Given the description of an element on the screen output the (x, y) to click on. 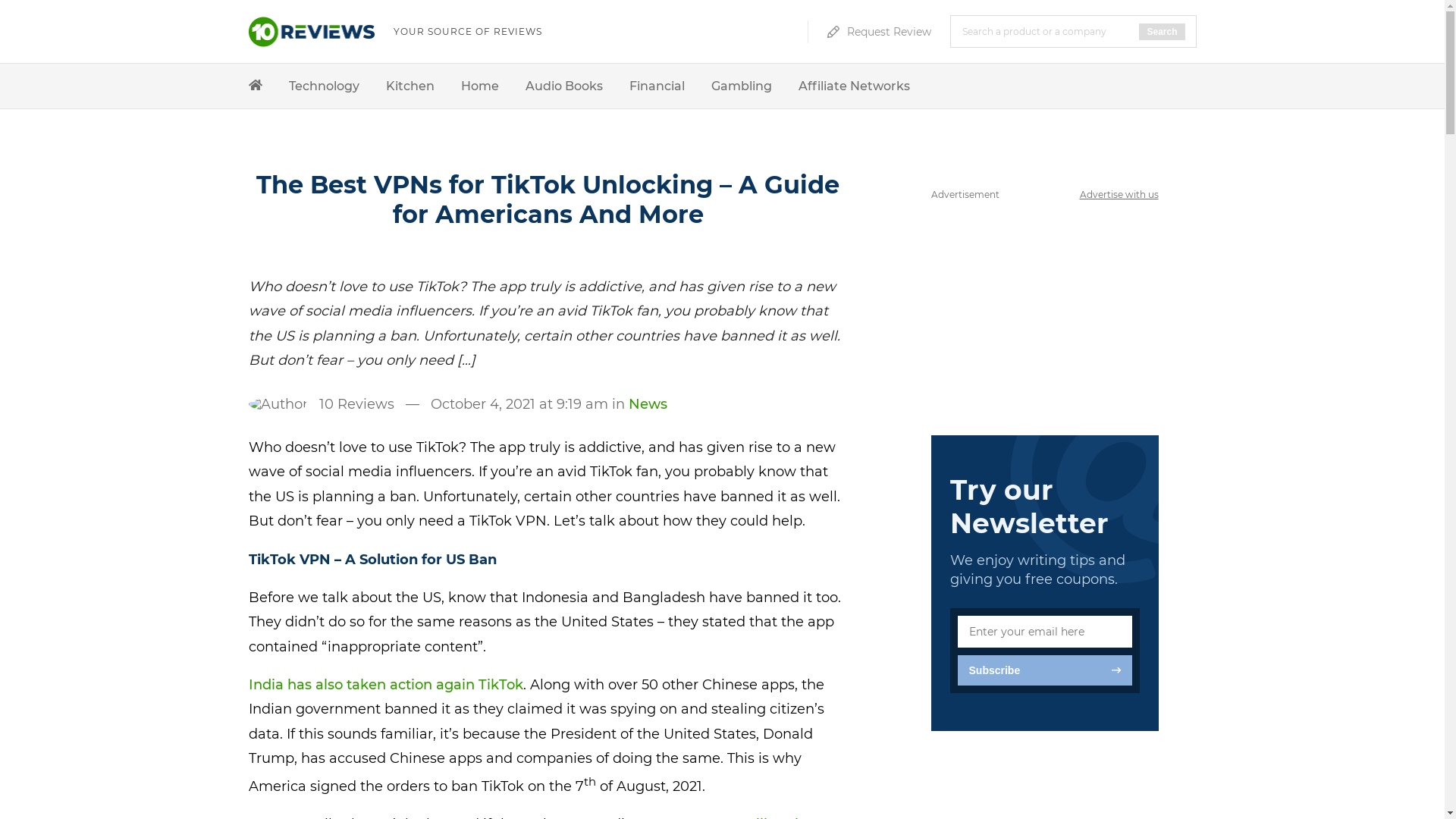
Subscribe Element type: text (1044, 670)
Kitchen Element type: text (409, 85)
Affiliate Networks Element type: text (853, 85)
Financial Element type: text (656, 85)
Advertisement Element type: hover (1044, 302)
News Element type: text (646, 403)
Search Element type: text (1161, 31)
India has also taken action again TikTok Element type: text (385, 684)
Gambling Element type: text (741, 85)
Advertise with us Element type: text (1118, 194)
Audio Books Element type: text (563, 85)
10reviews Element type: hover (311, 41)
Technology Element type: text (323, 85)
10 Reviews Element type: text (355, 403)
Request Review Element type: text (878, 30)
Home Element type: text (479, 85)
